Given the description of an element on the screen output the (x, y) to click on. 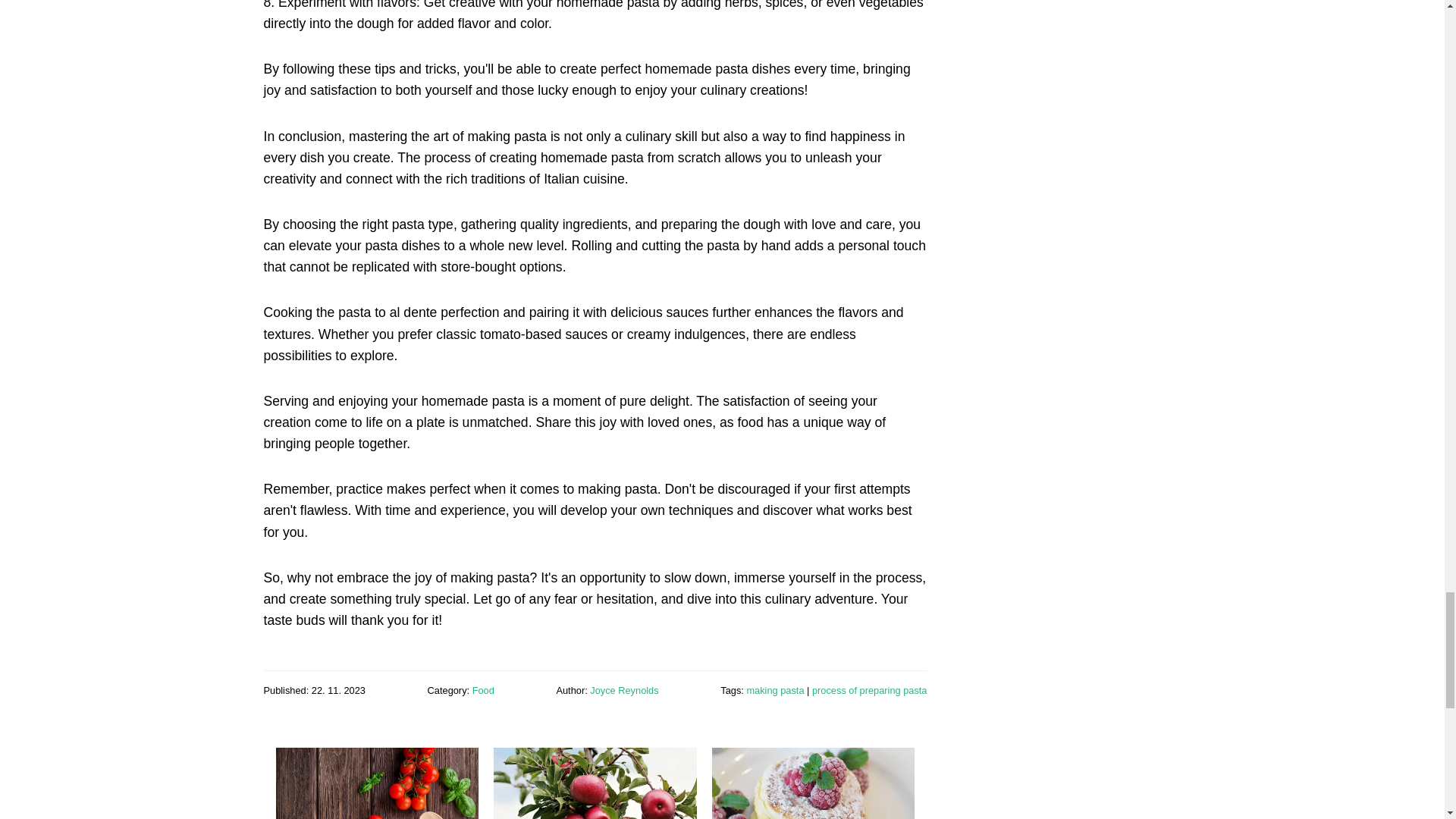
Joyce Reynolds (623, 690)
Food (483, 690)
making pasta (774, 690)
process of preparing pasta (869, 690)
